Given the description of an element on the screen output the (x, y) to click on. 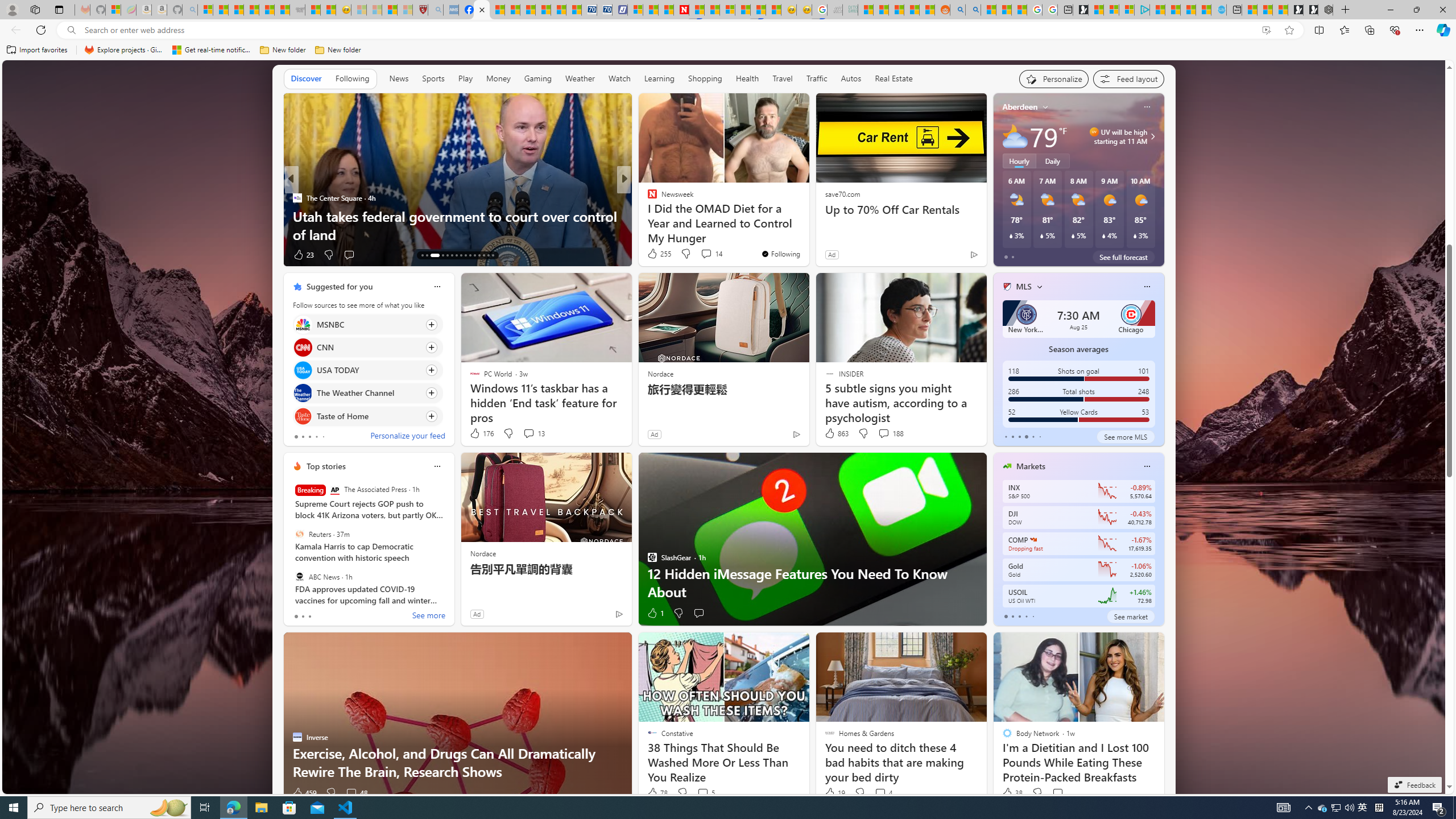
2024 Promotion - Book Here (807, 234)
ETNT Mind+Body (647, 197)
15 Anti-Aging Foods to Add to Your Diet (457, 234)
Import favorites (36, 49)
